Given the description of an element on the screen output the (x, y) to click on. 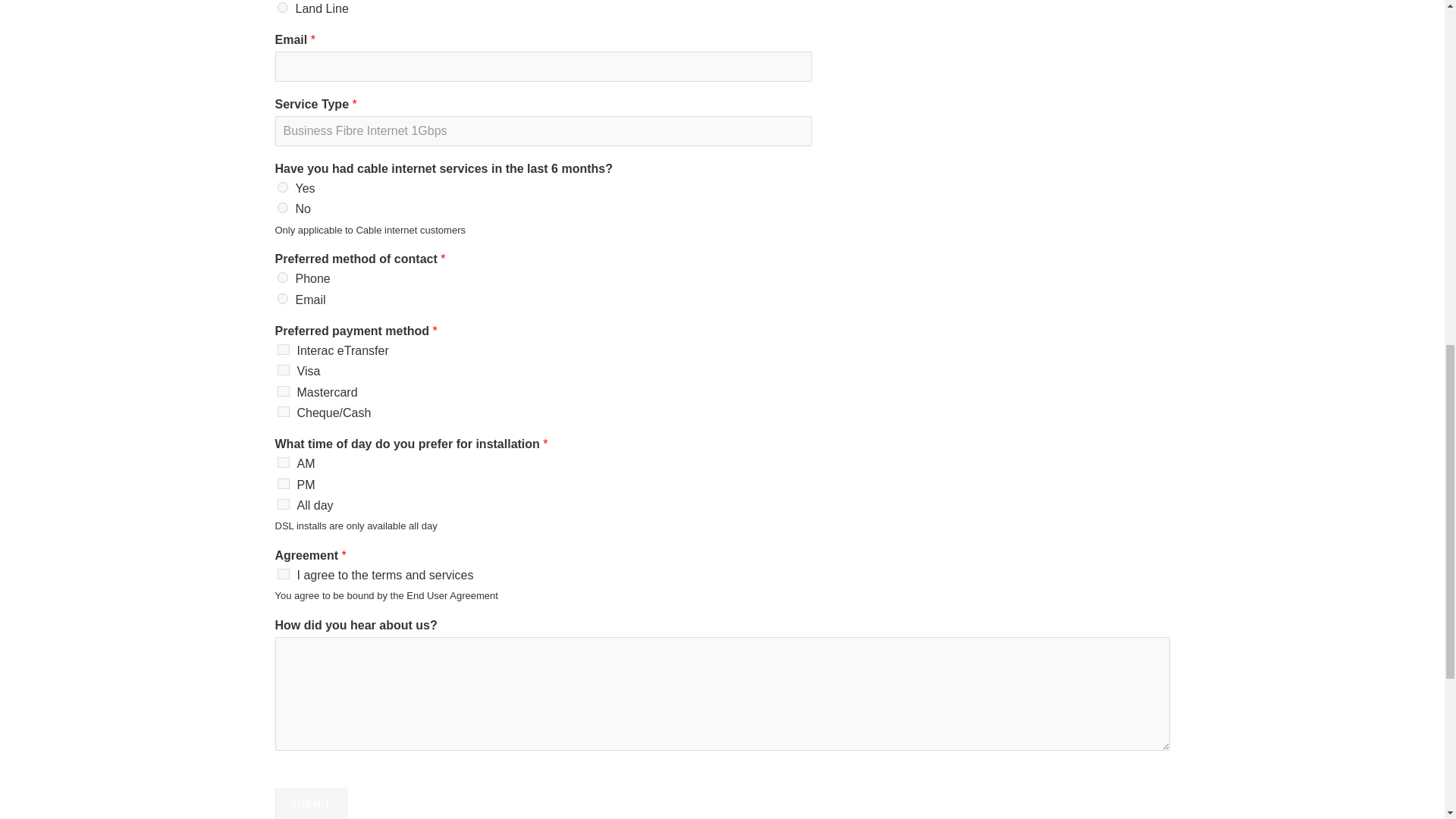
No (283, 207)
Interac eTransfer (283, 348)
Yes (283, 186)
Email (283, 298)
Mastercard (283, 390)
Phone (283, 276)
SUBMIT (310, 803)
End User Agreement (451, 595)
Land Line (283, 7)
Visa (283, 369)
